Given the description of an element on the screen output the (x, y) to click on. 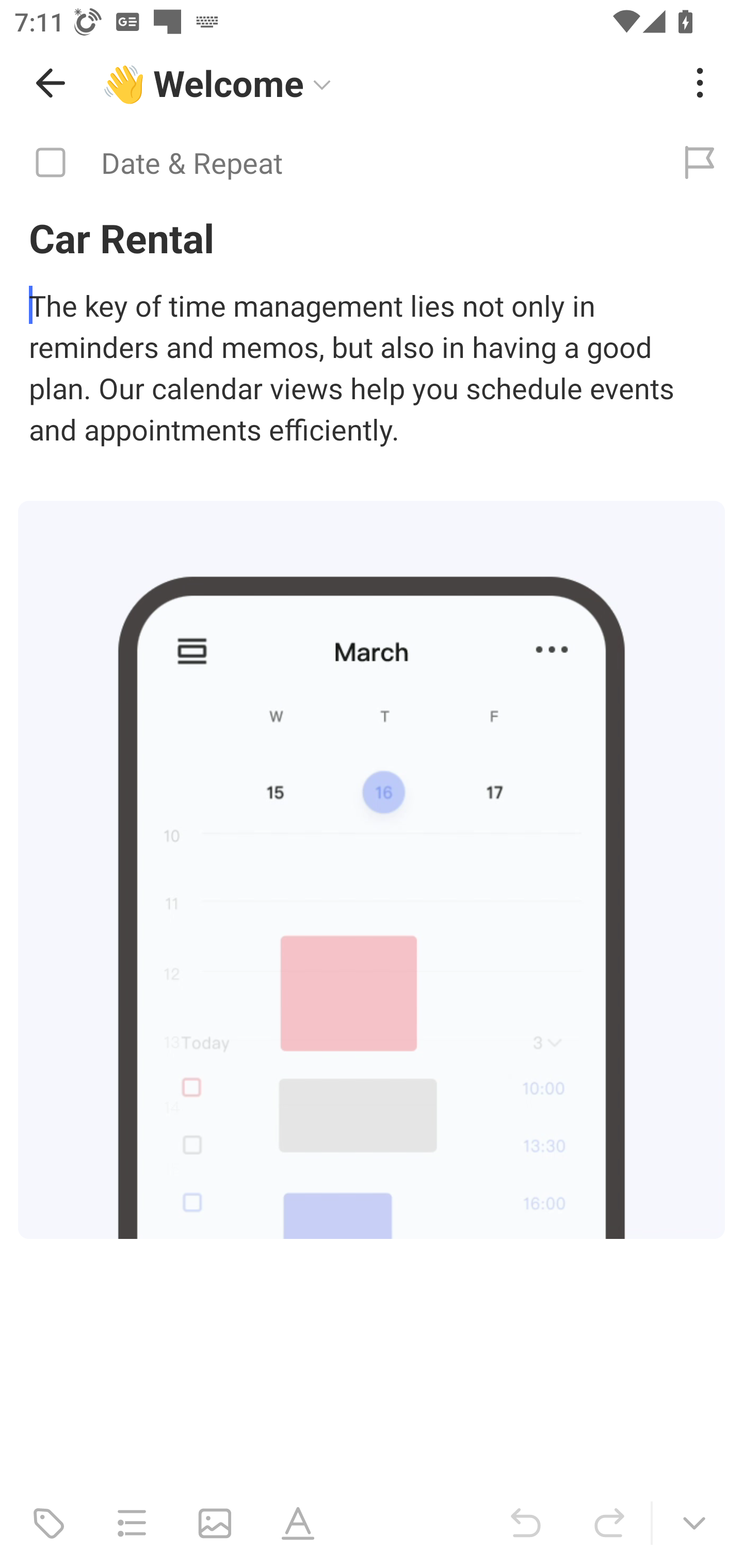
👋 Welcome (384, 82)
Date & Repeat (328, 163)
Car Rental (371, 237)
